Given the description of an element on the screen output the (x, y) to click on. 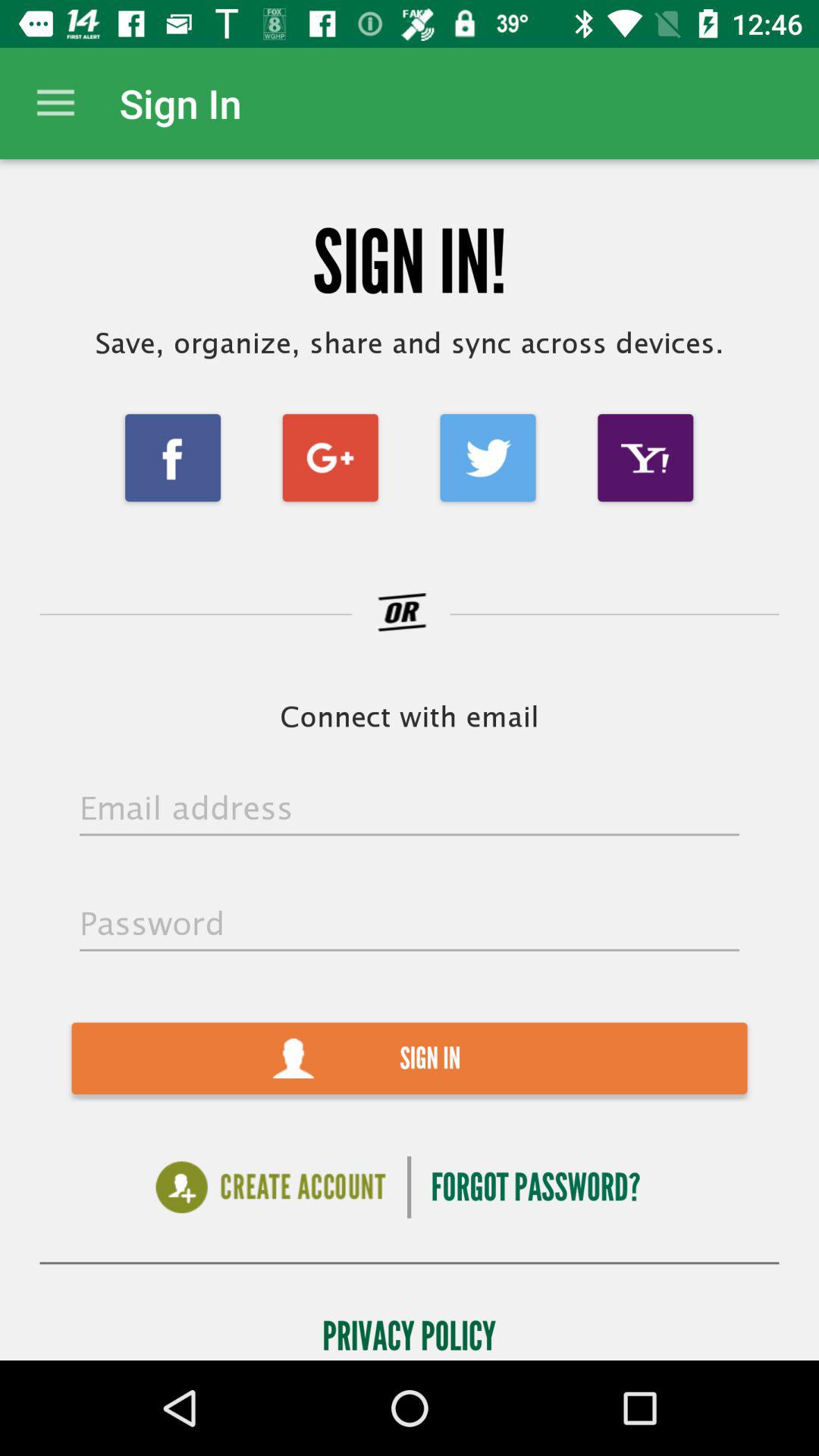
press icon below the sign in item (270, 1187)
